Given the description of an element on the screen output the (x, y) to click on. 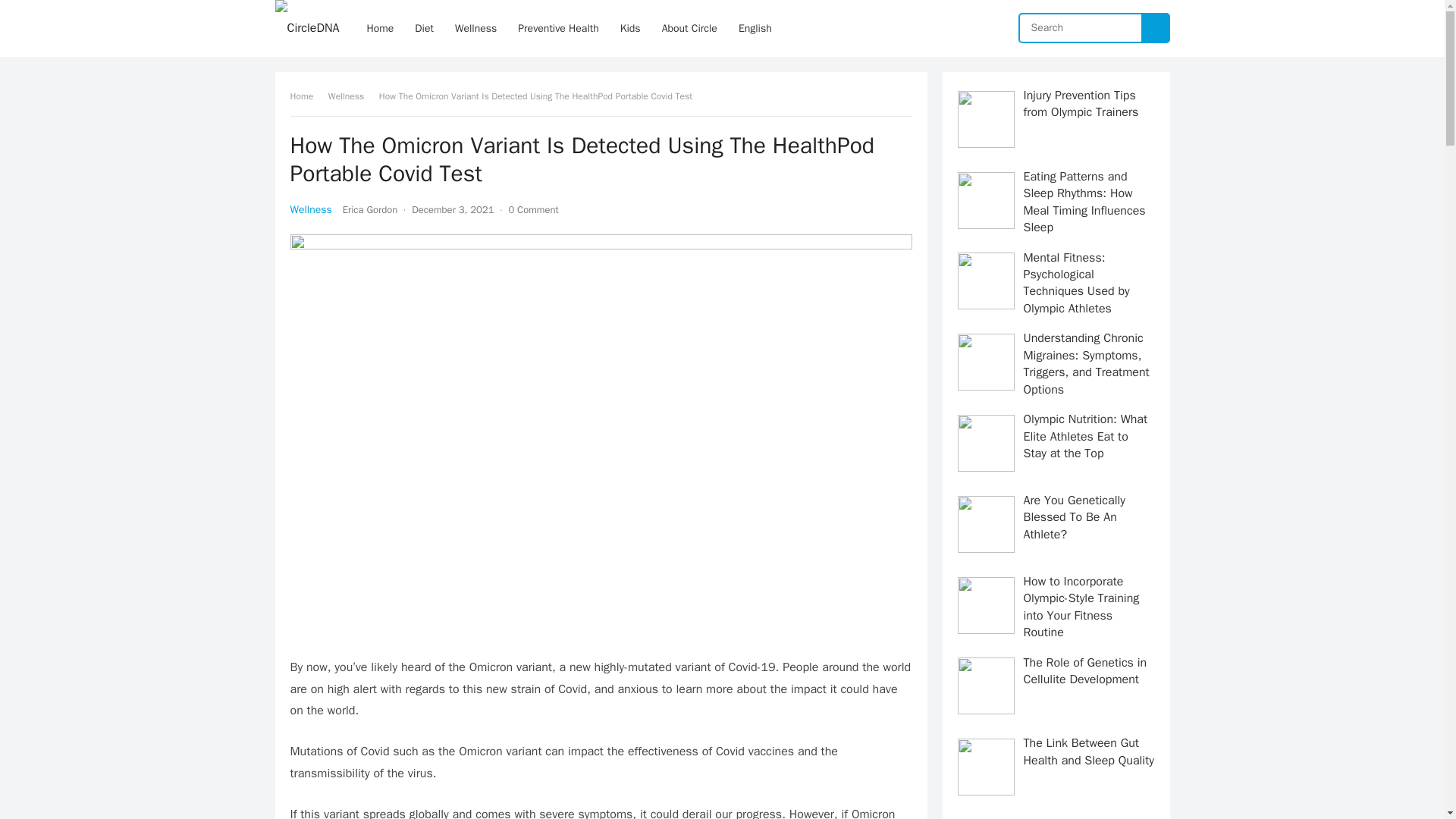
Erica Gordon (369, 209)
Posts by Erica Gordon (369, 209)
Preventive Health (558, 28)
Diet (424, 28)
Wellness (310, 209)
About Circle (689, 28)
Wellness (475, 28)
Home (380, 28)
Wellness (351, 96)
Kids (630, 28)
Home (306, 96)
English (754, 28)
